Given the description of an element on the screen output the (x, y) to click on. 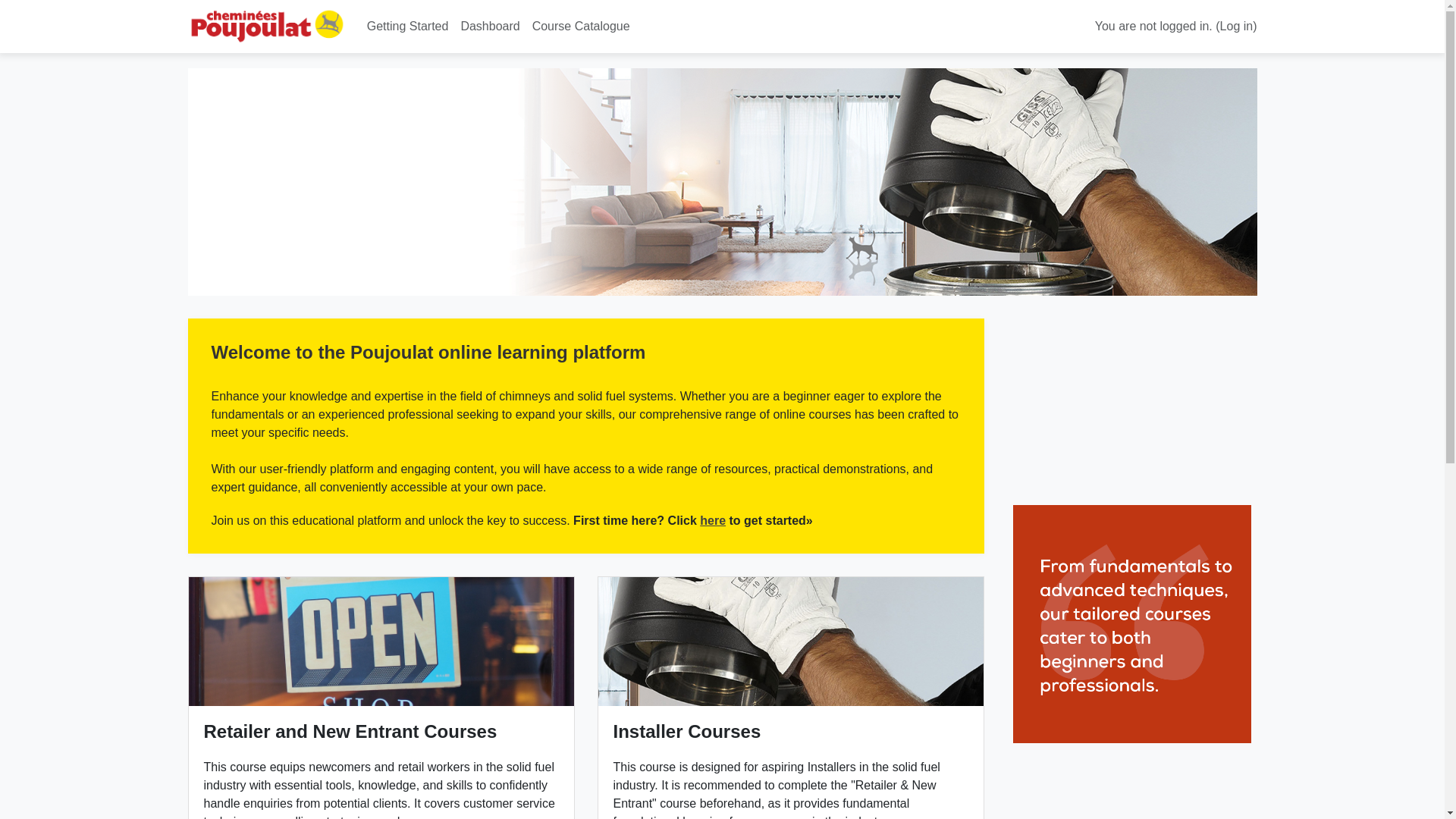
Dashboard (489, 26)
Log in (1236, 25)
Getting Started (407, 26)
Course Catalogue (580, 26)
here (712, 520)
